Given the description of an element on the screen output the (x, y) to click on. 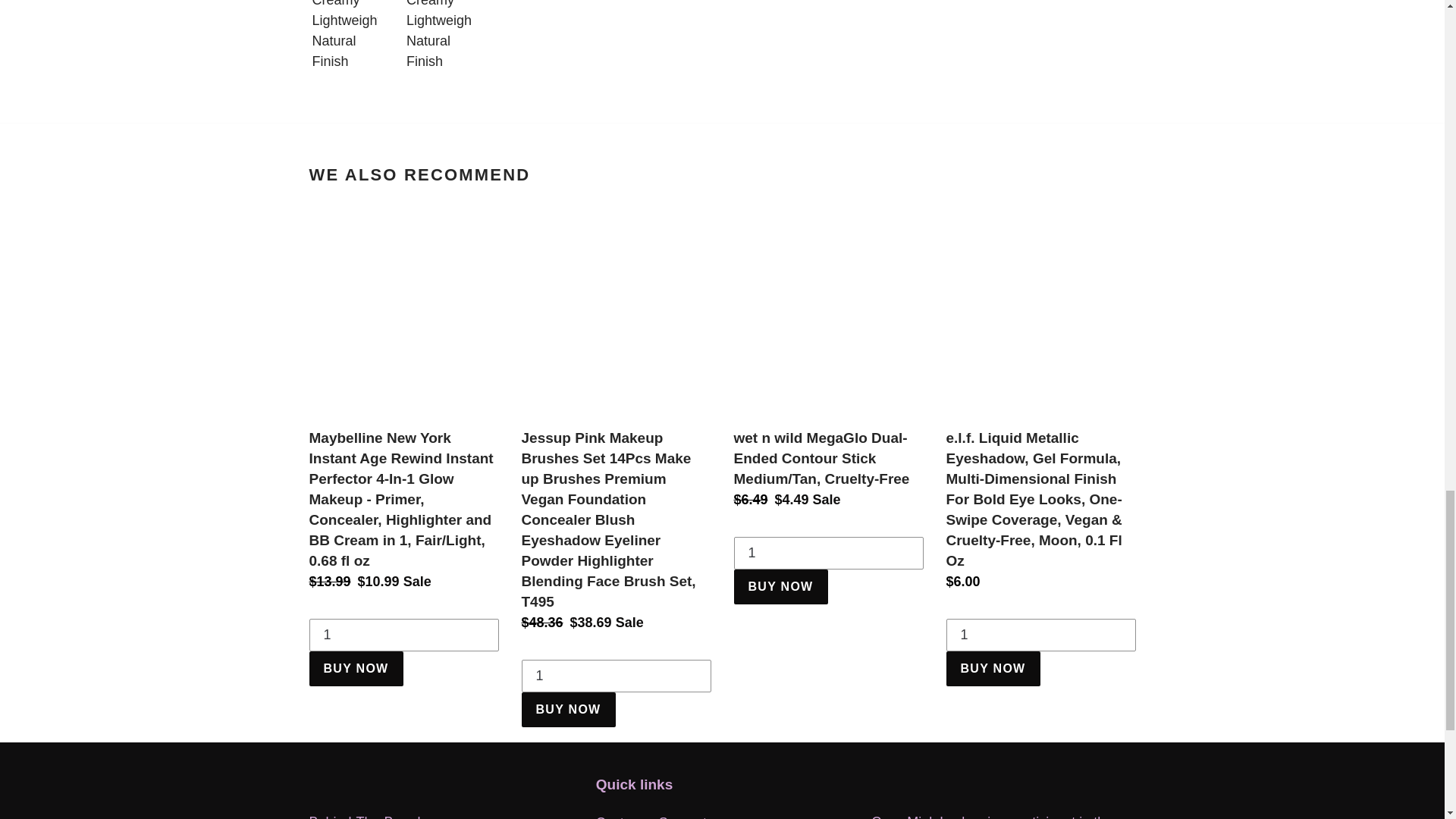
1 (828, 553)
1 (616, 676)
1 (1040, 635)
1 (403, 635)
